Given the description of an element on the screen output the (x, y) to click on. 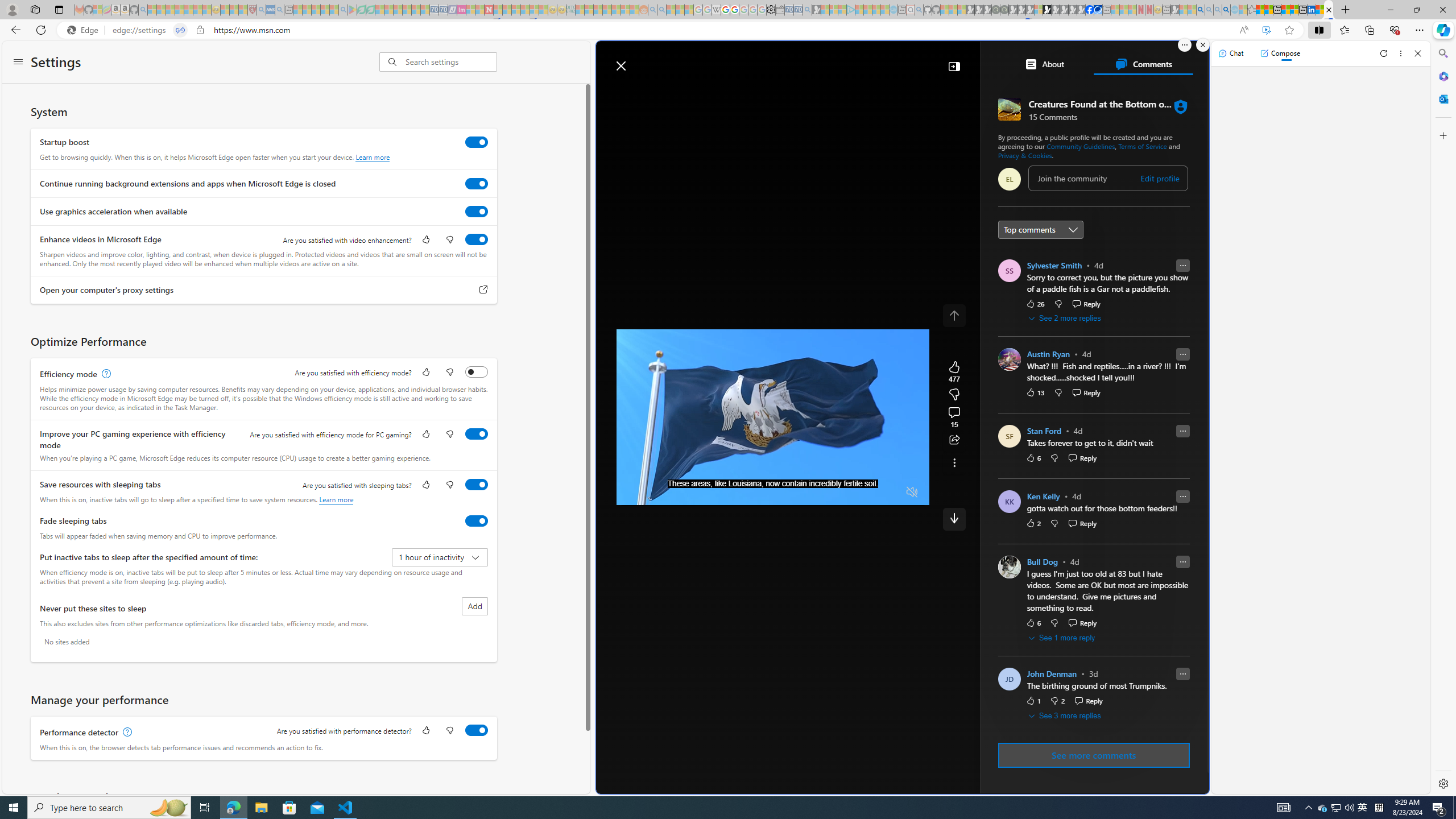
Bull Dog (1042, 562)
Improve your PC gaming experience with efficiency mode (476, 433)
Learn more (335, 499)
Privacy Help Center - Policies Help (725, 9)
Utah sues federal government - Search - Sleeping (661, 9)
